Given the description of an element on the screen output the (x, y) to click on. 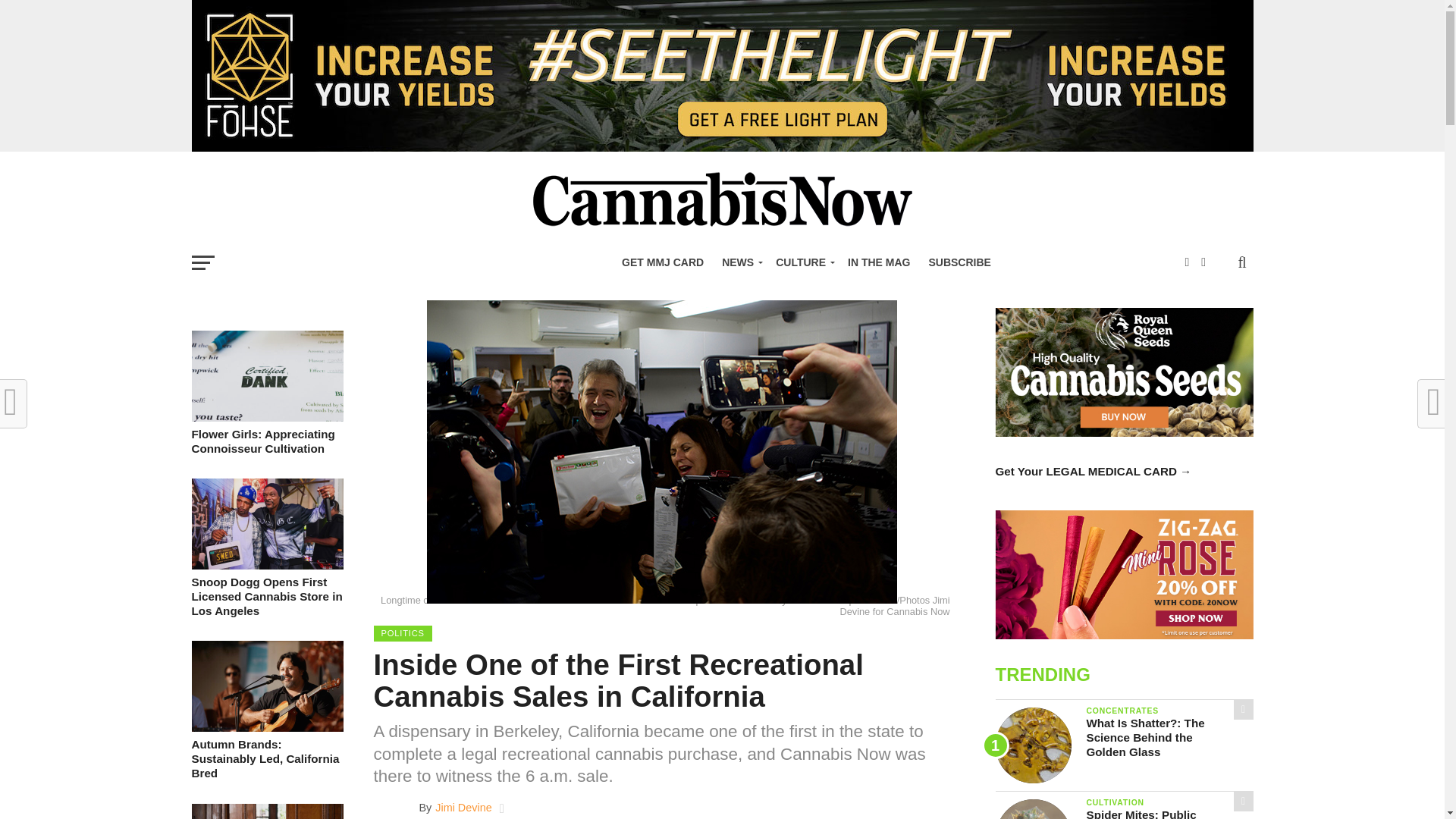
Autumn Brands: Sustainably Led, California Bred (266, 727)
GET MMJ CARD (662, 262)
Flower Girls: Appreciating Connoisseur Cultivation (266, 417)
Posts by Jimi Devine (463, 807)
